Given the description of an element on the screen output the (x, y) to click on. 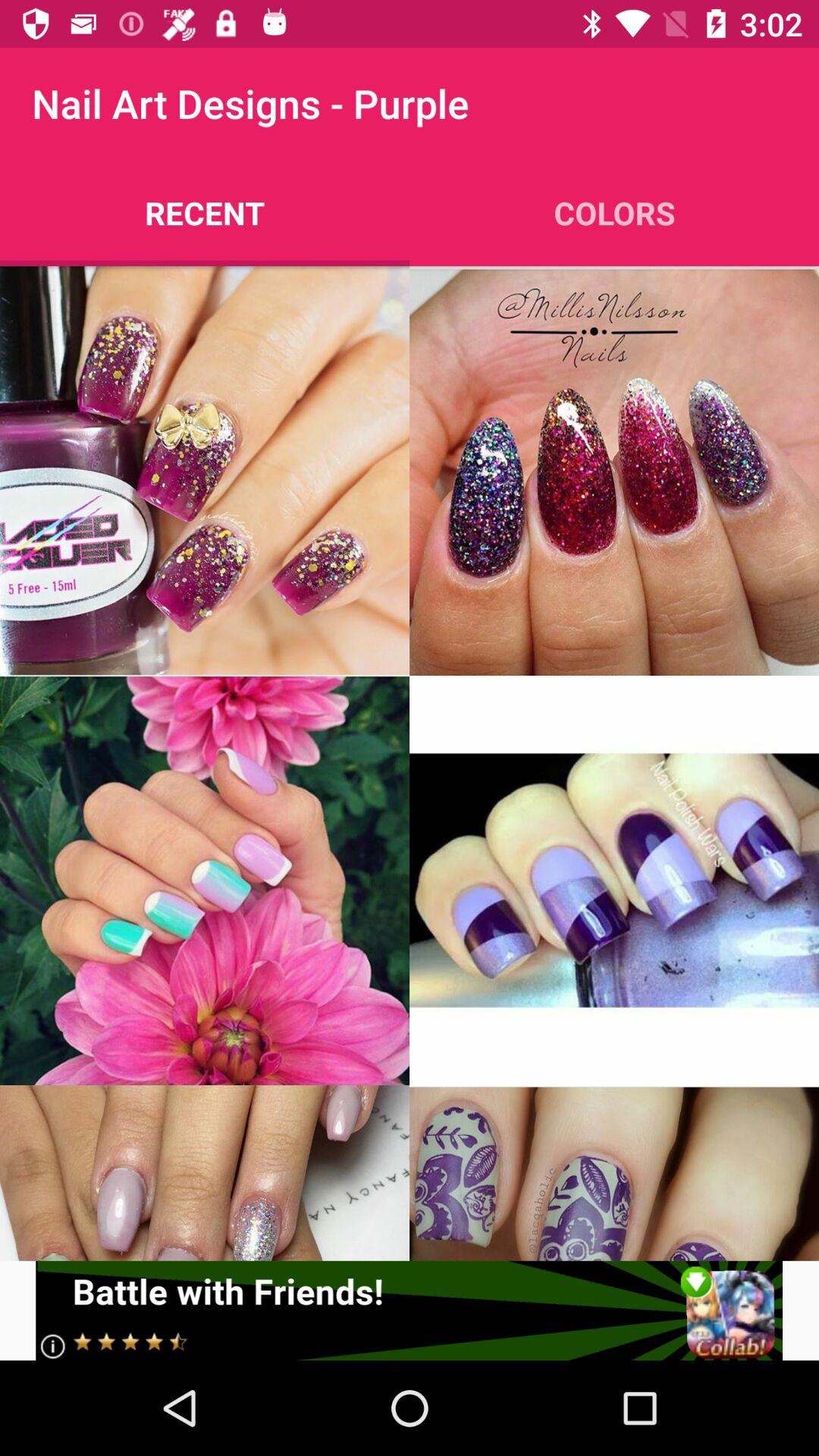
click advertisement (408, 1310)
